Given the description of an element on the screen output the (x, y) to click on. 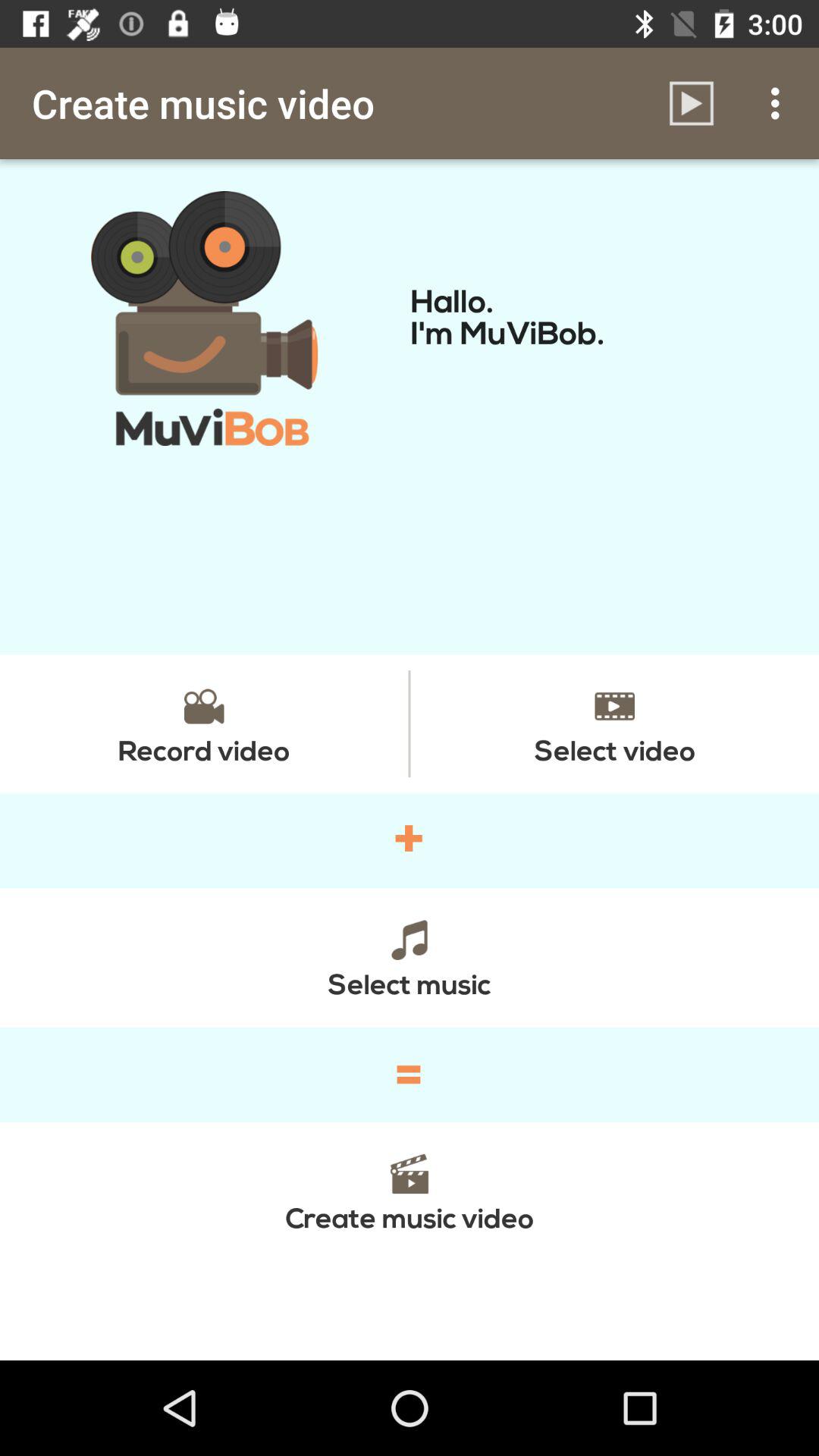
turn off icon above the hallo i m icon (691, 103)
